Given the description of an element on the screen output the (x, y) to click on. 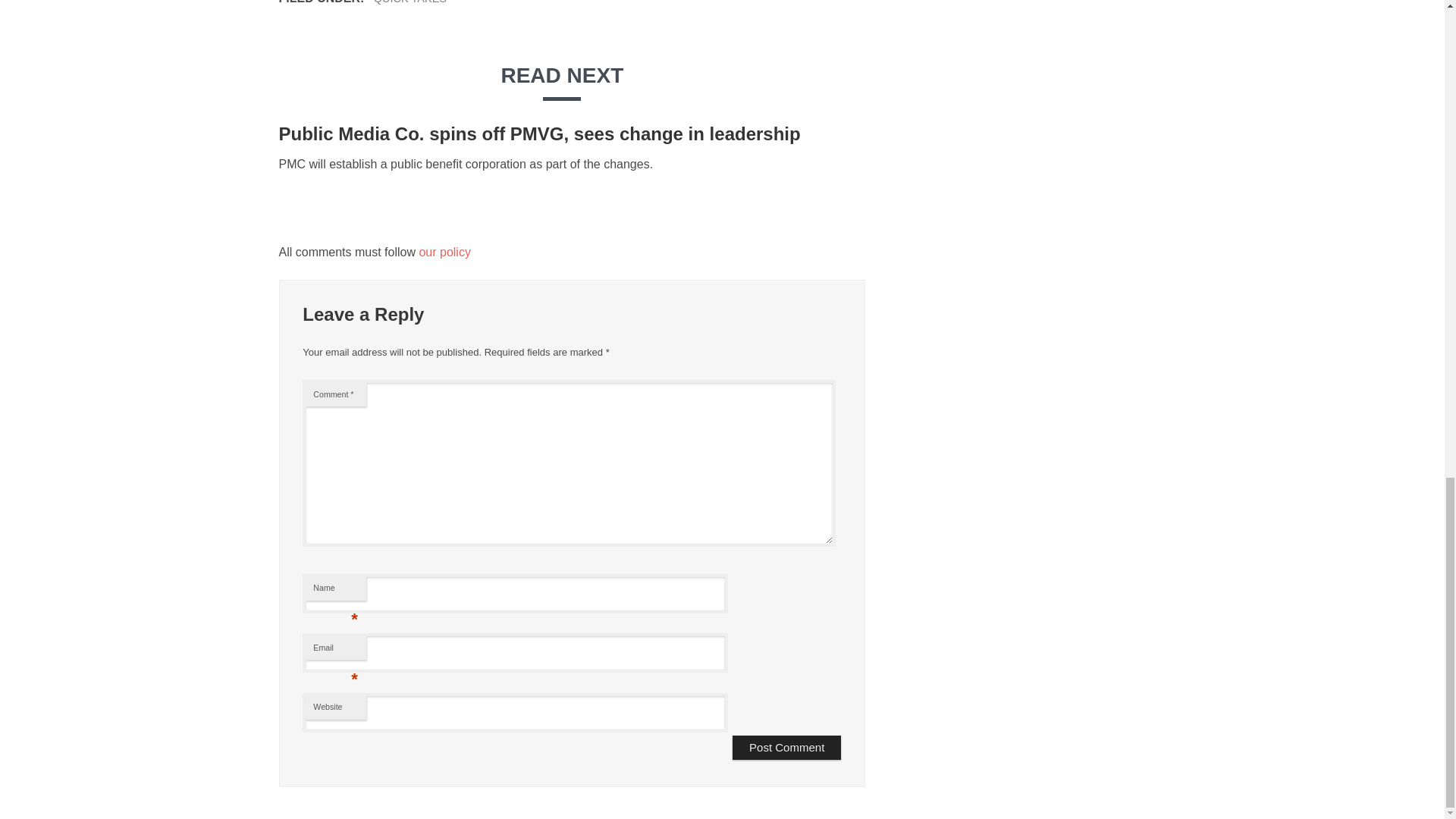
Post Comment (786, 747)
Read:  (539, 133)
Read Posts in the Quick Takes category (410, 2)
